Given the description of an element on the screen output the (x, y) to click on. 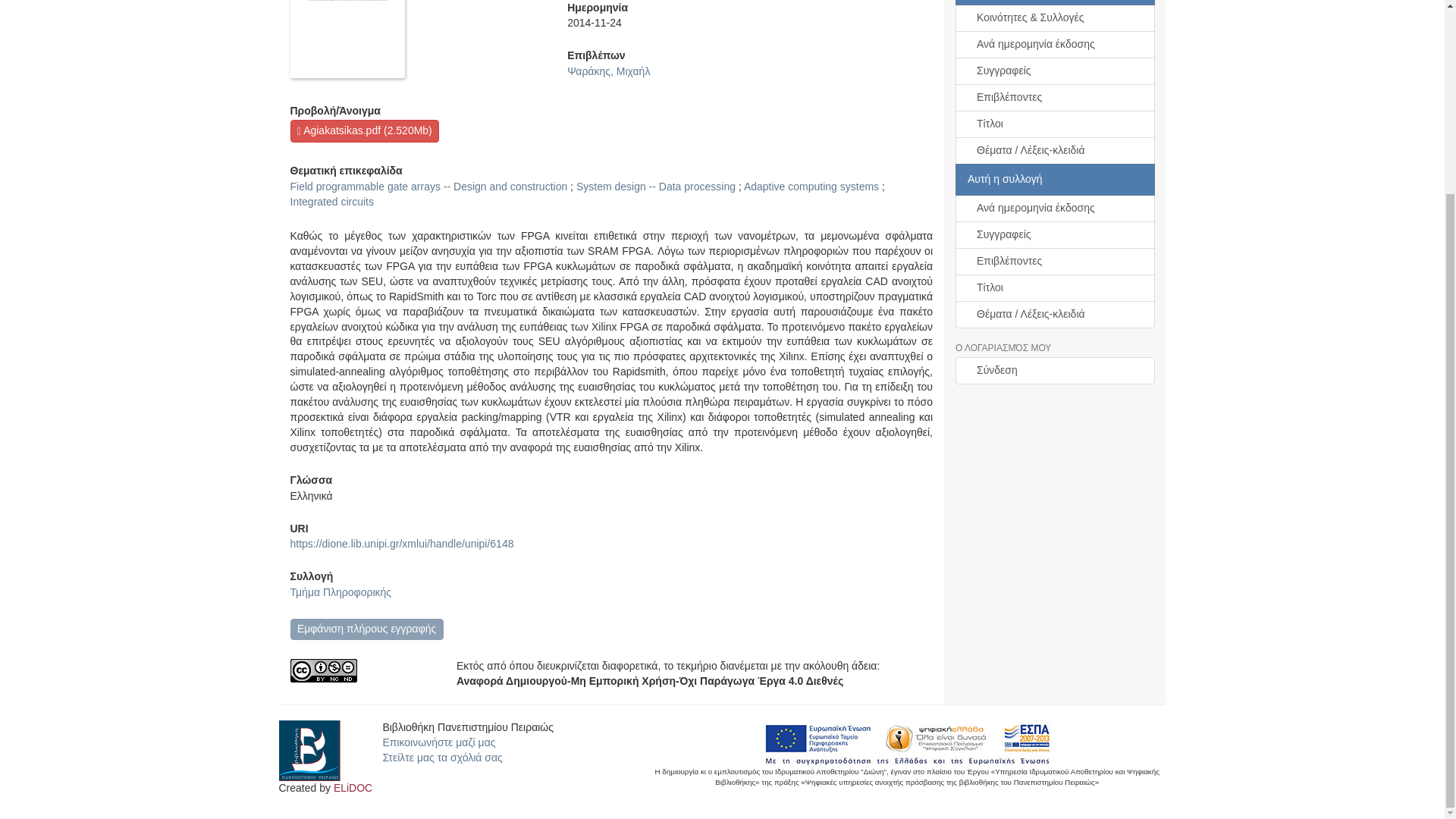
Adaptive computing systems (811, 186)
Field programmable gate arrays -- Design and construction (428, 186)
System design -- Data processing (655, 186)
Integrated circuits (331, 201)
